Given the description of an element on the screen output the (x, y) to click on. 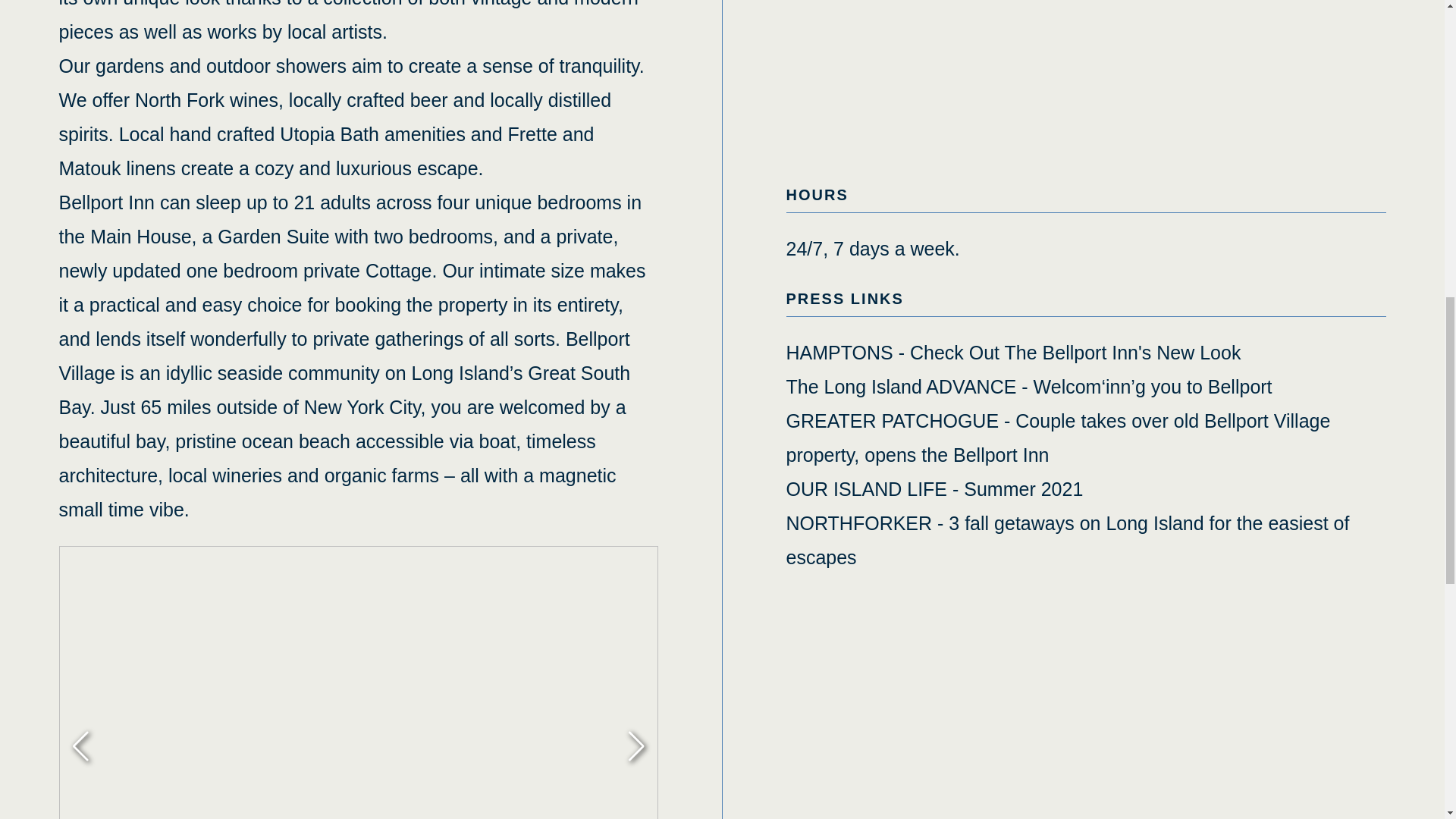
OUR ISLAND LIFE - Summer 2021 (934, 488)
HAMPTONS - Check Out The Bellport Inn's New Look (1013, 352)
